Given the description of an element on the screen output the (x, y) to click on. 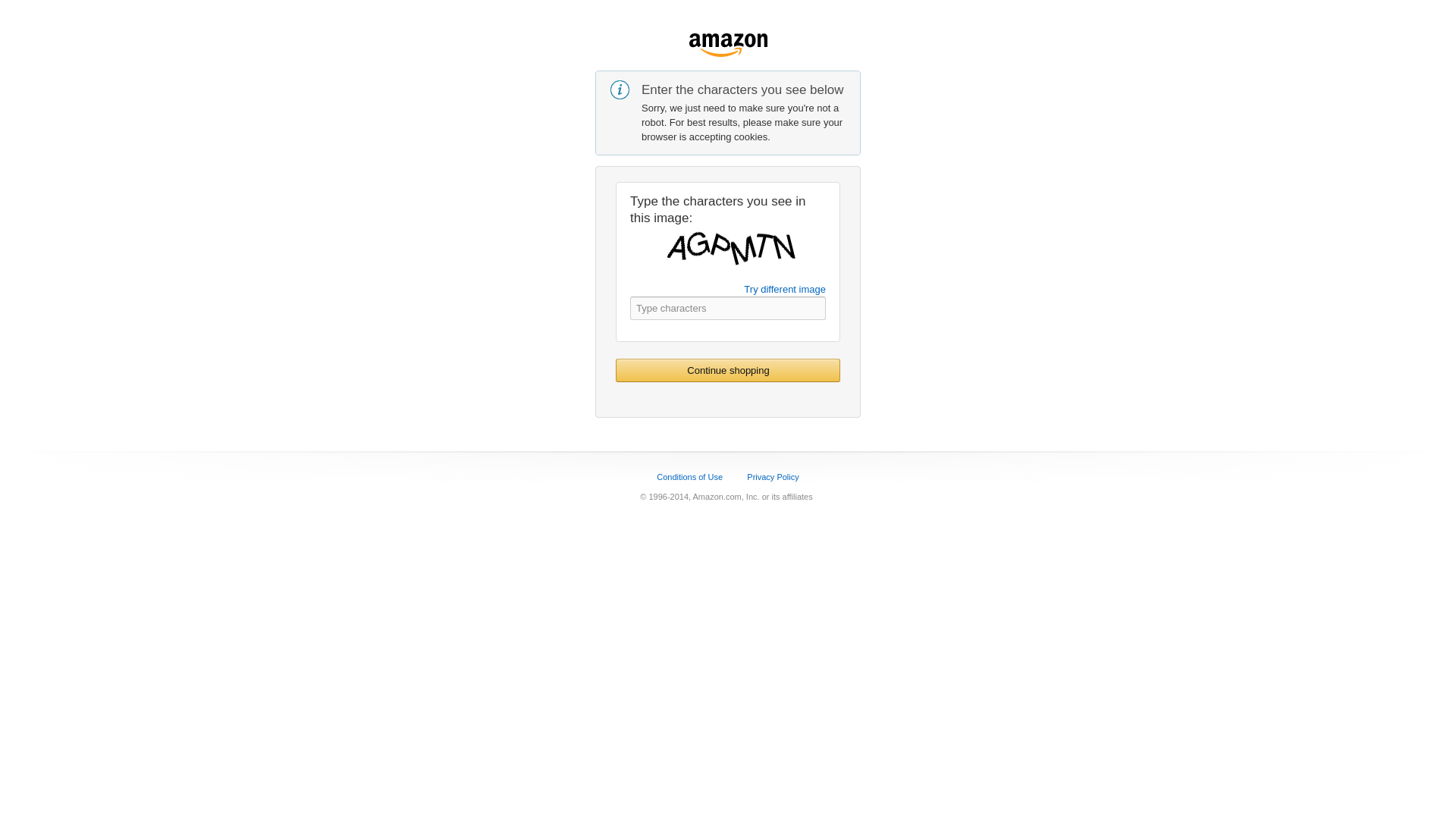
Privacy Policy (771, 476)
Continue shopping (727, 370)
Try different image (784, 288)
Conditions of Use (689, 476)
